Given the description of an element on the screen output the (x, y) to click on. 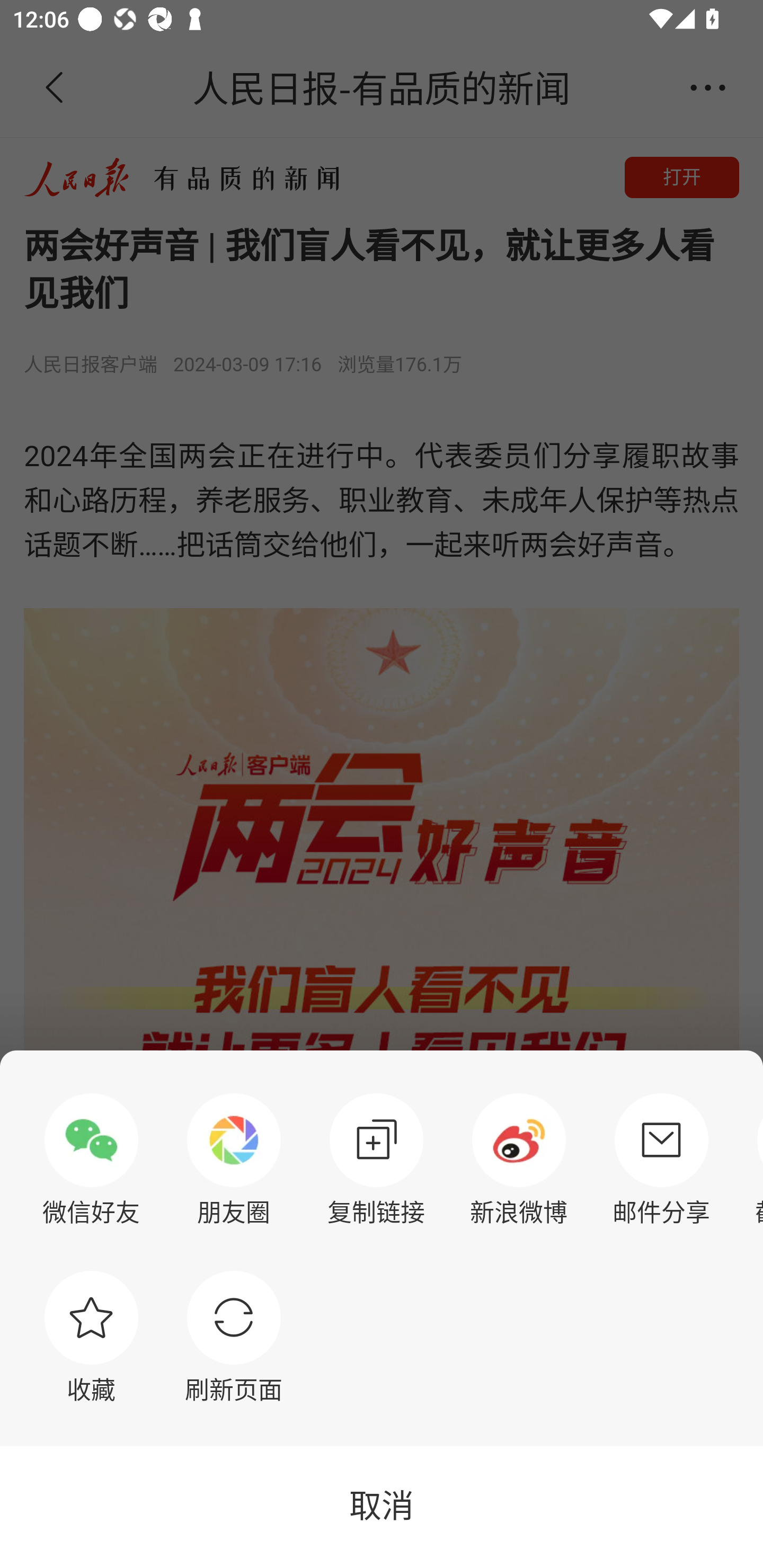
微信好友 (90, 1159)
朋友圈 (233, 1159)
 复制链接 复制链接 (376, 1159)
新浪微博 (518, 1159)
 邮件分享 邮件分享 (661, 1159)
 收藏 收藏 (90, 1337)
 刷新页面 刷新页面 (233, 1337)
取消 (381, 1506)
